Given the description of an element on the screen output the (x, y) to click on. 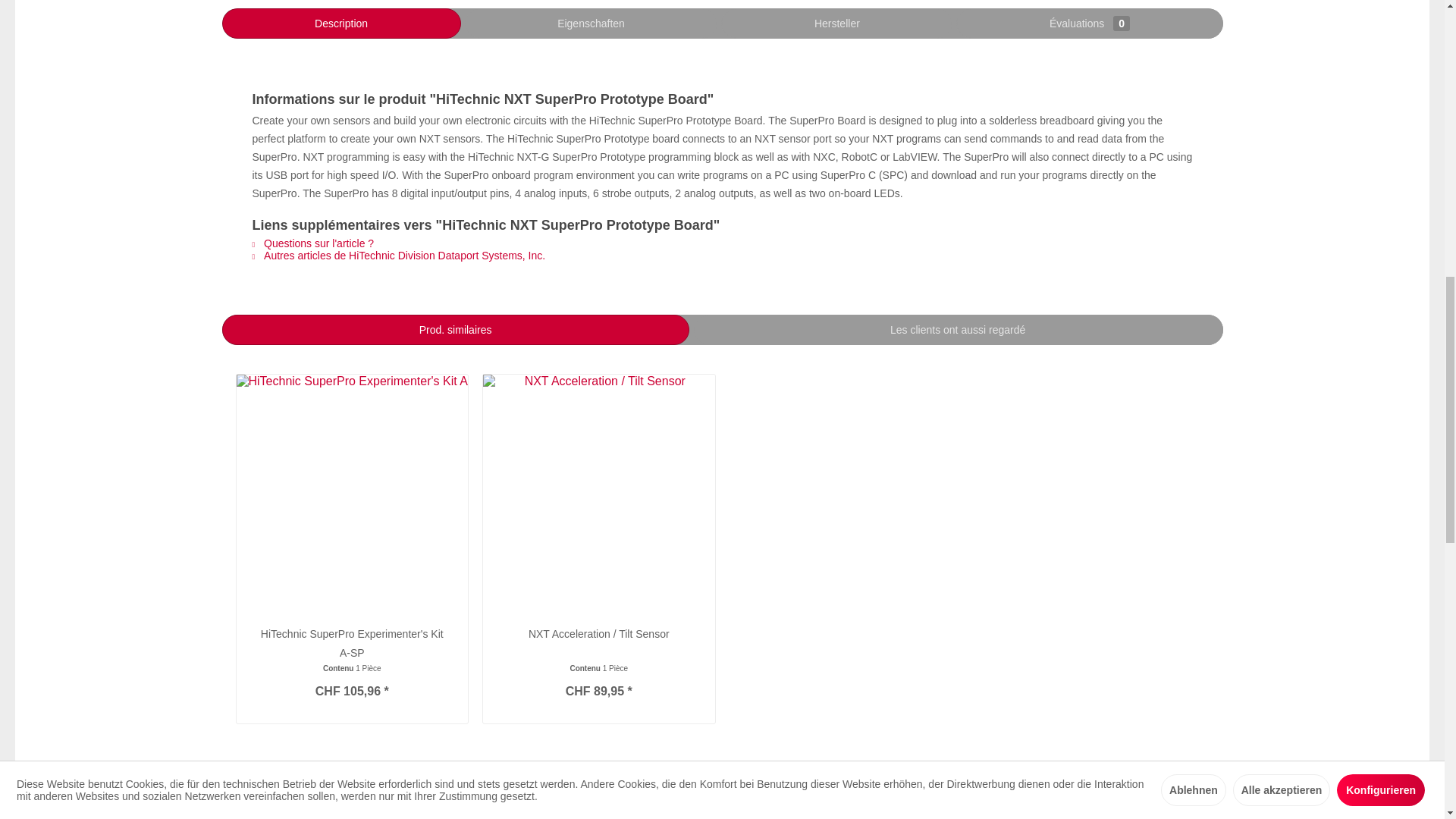
Eigenschaften (590, 23)
Description (340, 23)
Hersteller (836, 23)
